Given the description of an element on the screen output the (x, y) to click on. 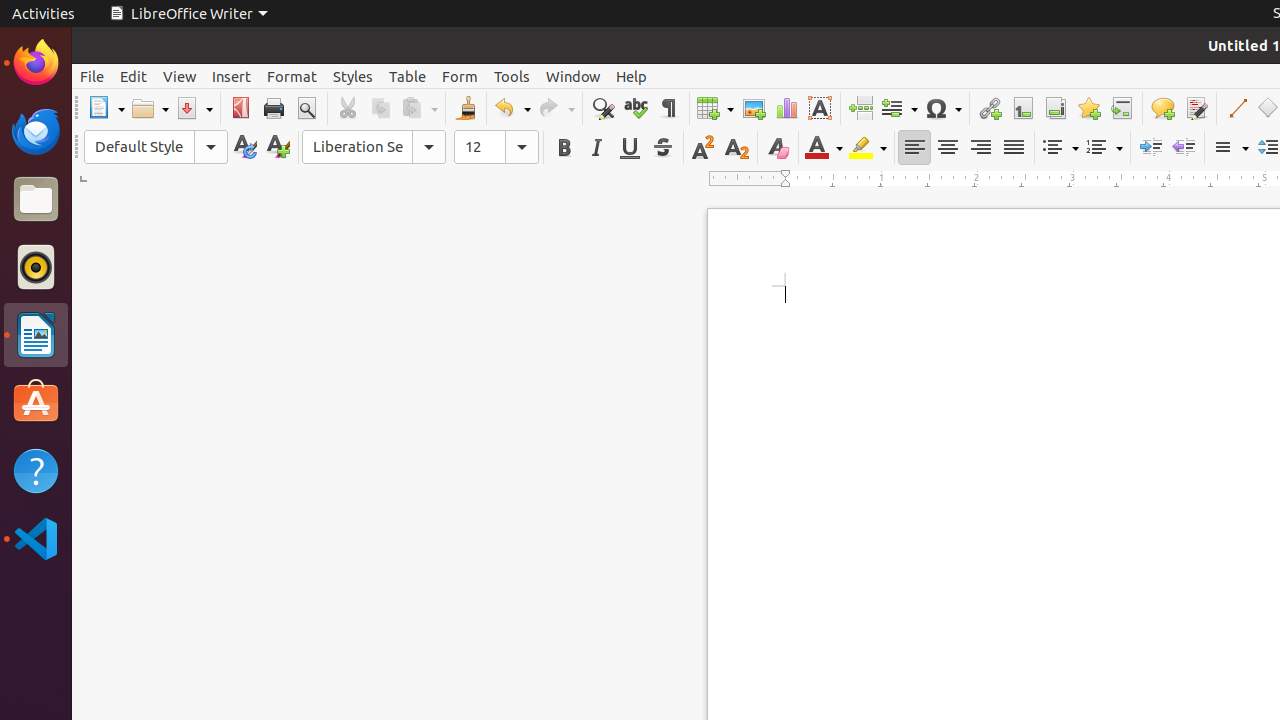
Spelling Element type: push-button (635, 108)
Format Element type: menu (292, 76)
LibreOffice Writer Element type: push-button (36, 334)
Paragraph Style Element type: combo-box (156, 147)
Copy Element type: push-button (380, 108)
